Given the description of an element on the screen output the (x, y) to click on. 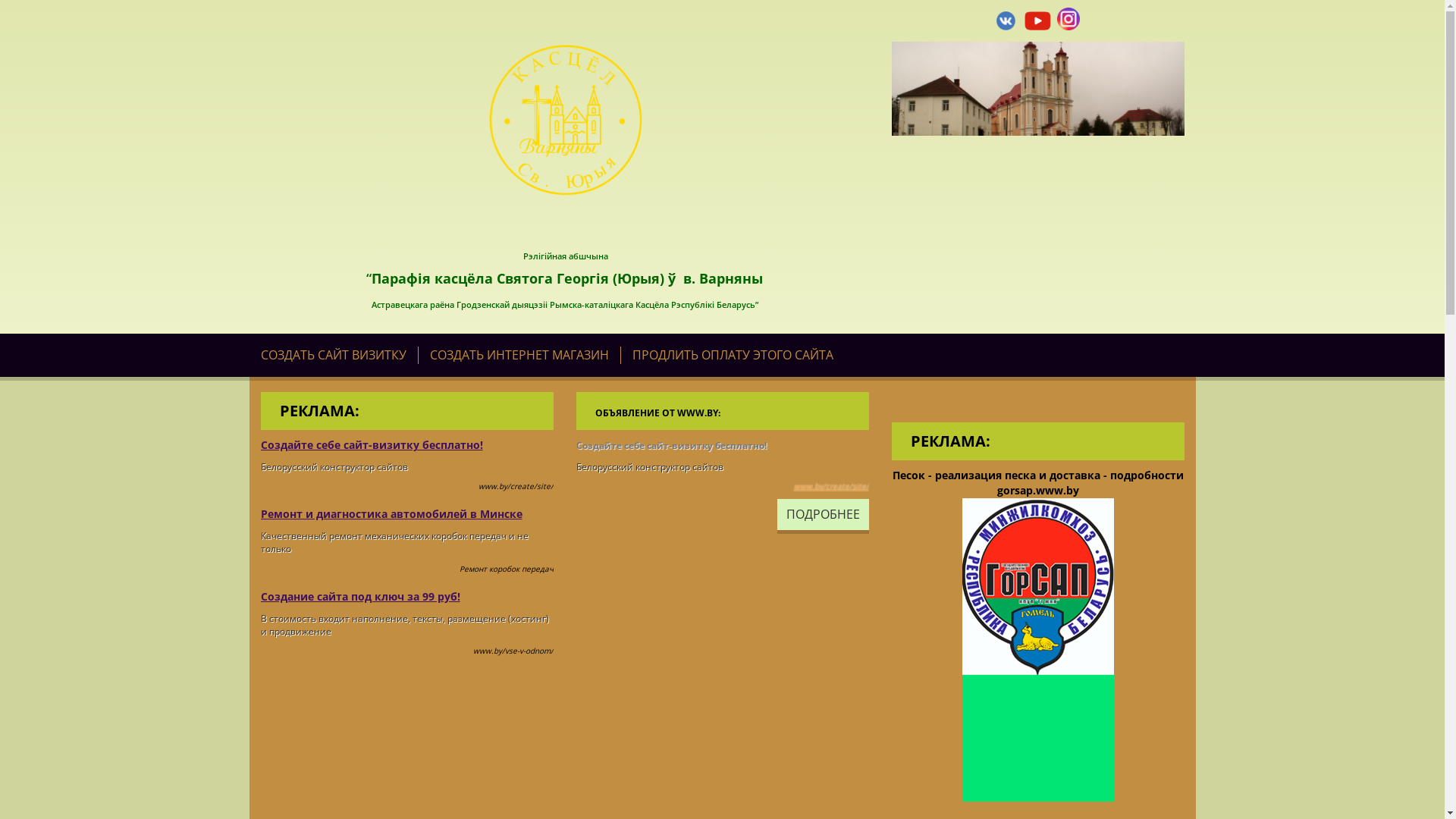
www.by/create/site/ Element type: text (830, 485)
